Given the description of an element on the screen output the (x, y) to click on. 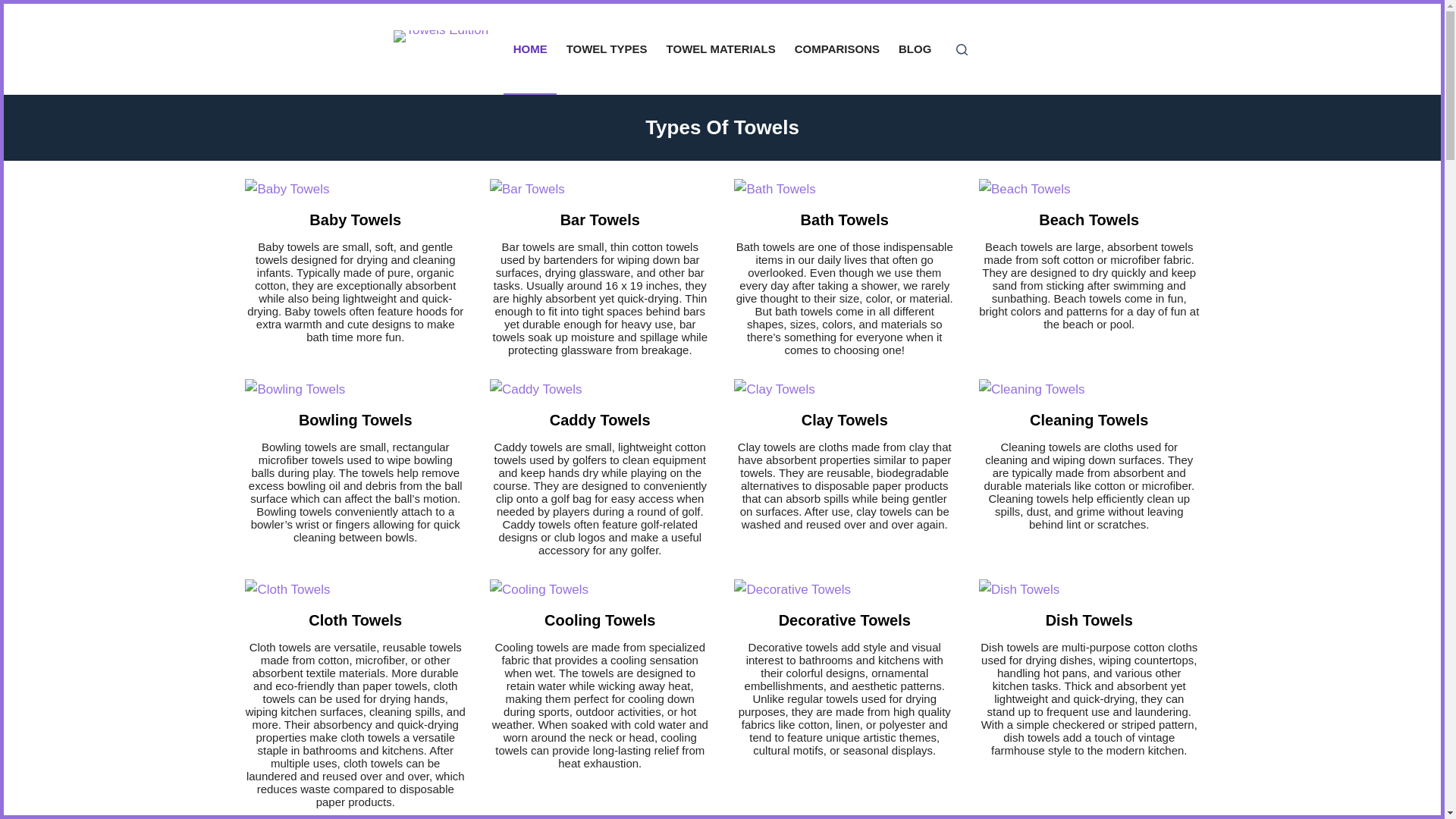
Cleaning Towels (1088, 419)
TOWEL MATERIALS (720, 49)
Beach Towels (1088, 219)
Clay Towels (845, 419)
TOWEL TYPES (606, 49)
Bath Towels (844, 219)
Caddy Towels (600, 419)
Skip to content (15, 7)
Bowling Towels (355, 419)
Bar Towels (600, 219)
Cloth Towels (354, 619)
COMPARISONS (836, 49)
Baby Towels (354, 219)
